Given the description of an element on the screen output the (x, y) to click on. 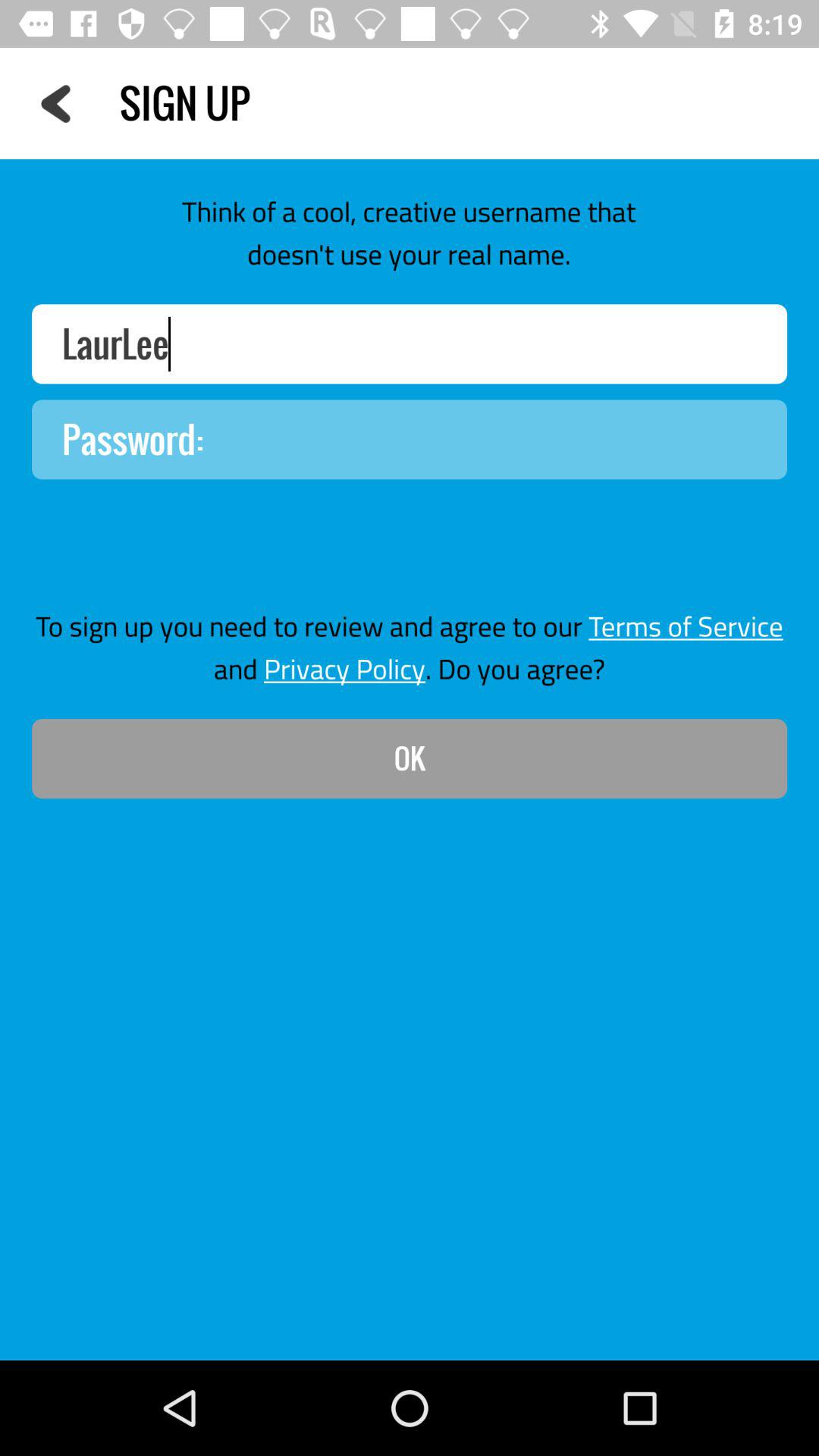
enter password (409, 439)
